Given the description of an element on the screen output the (x, y) to click on. 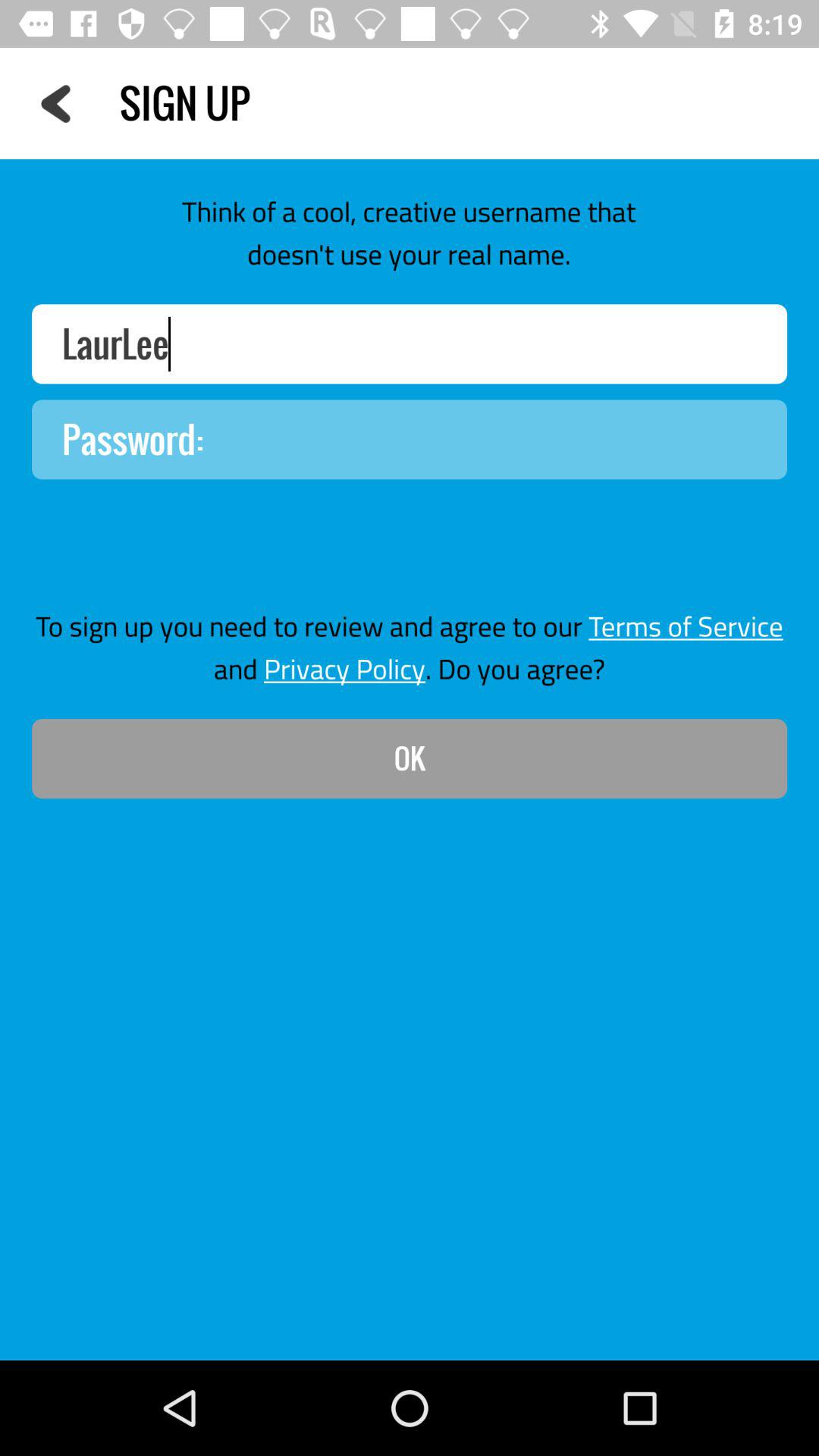
enter password (409, 439)
